Given the description of an element on the screen output the (x, y) to click on. 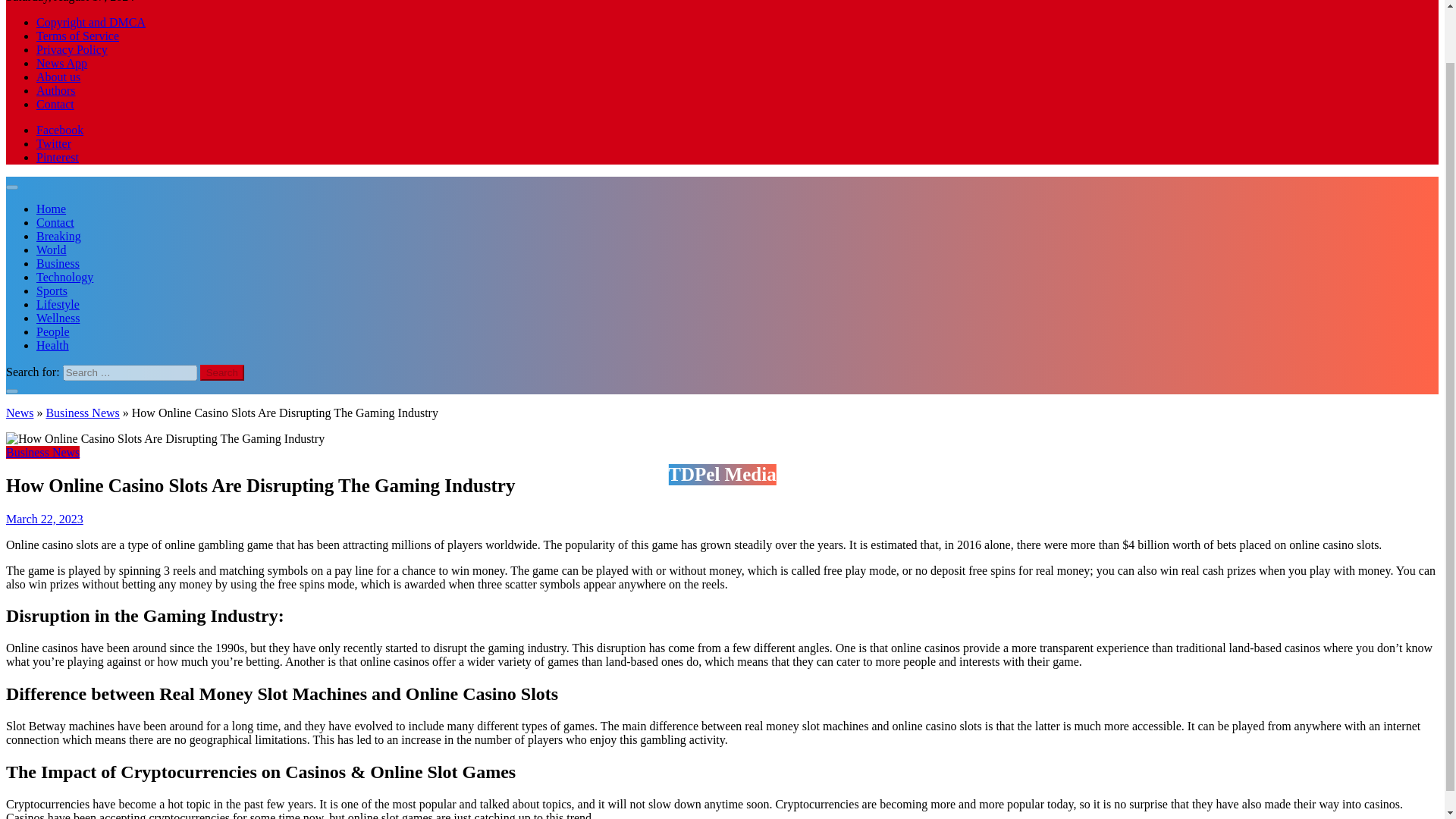
Business (58, 263)
Business News (42, 451)
People (52, 331)
About us (58, 76)
News (19, 412)
World (51, 249)
Business News (82, 412)
Wellness (58, 318)
Facebook (59, 129)
March 22, 2023 (43, 517)
